Given the description of an element on the screen output the (x, y) to click on. 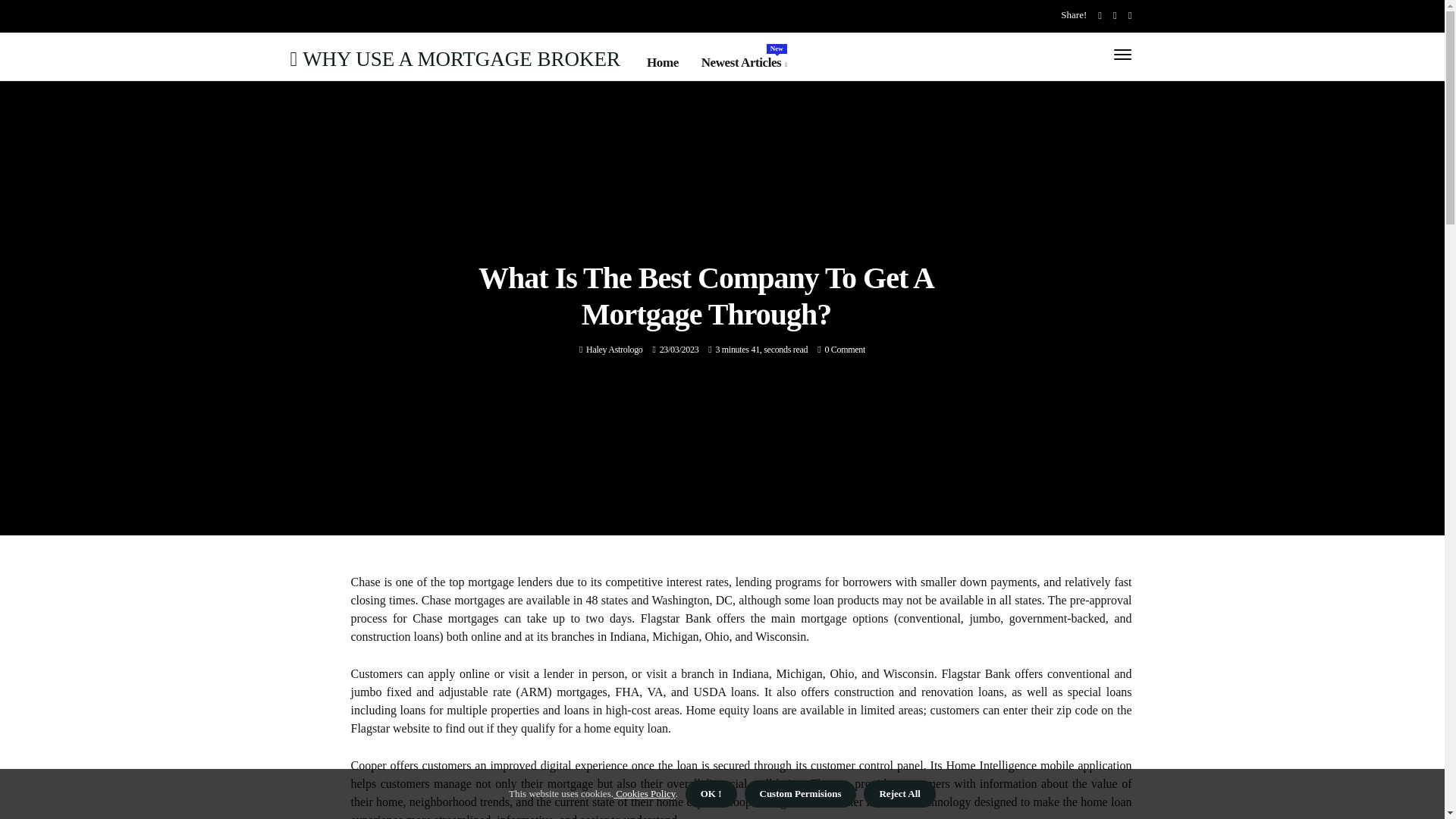
Posts by Haley Astrologo (614, 348)
Haley Astrologo (744, 62)
WHY USE A MORTGAGE BROKER (614, 348)
0 Comment (454, 58)
